Given the description of an element on the screen output the (x, y) to click on. 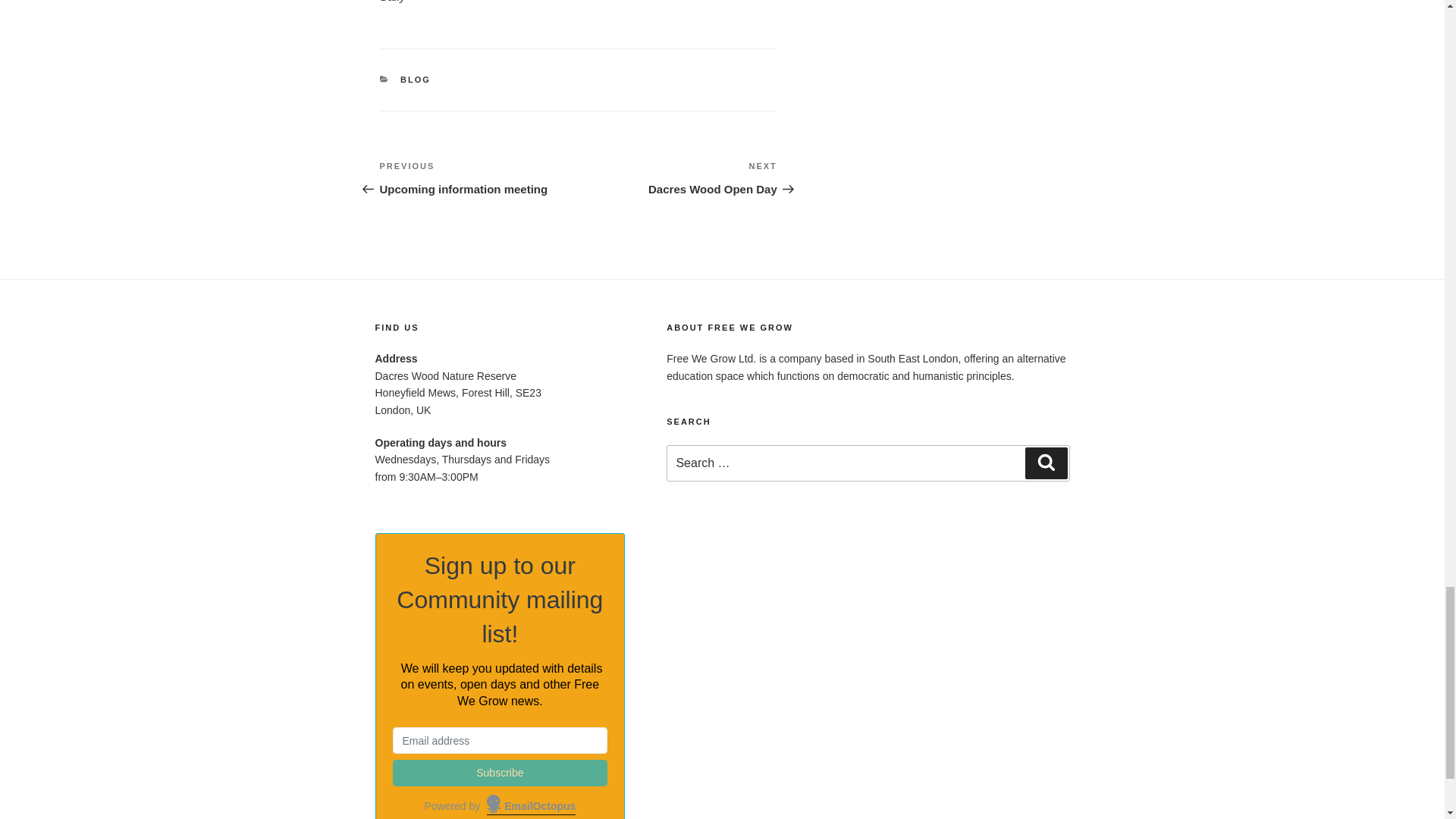
Subscribe (500, 773)
BLOG (415, 79)
